Given the description of an element on the screen output the (x, y) to click on. 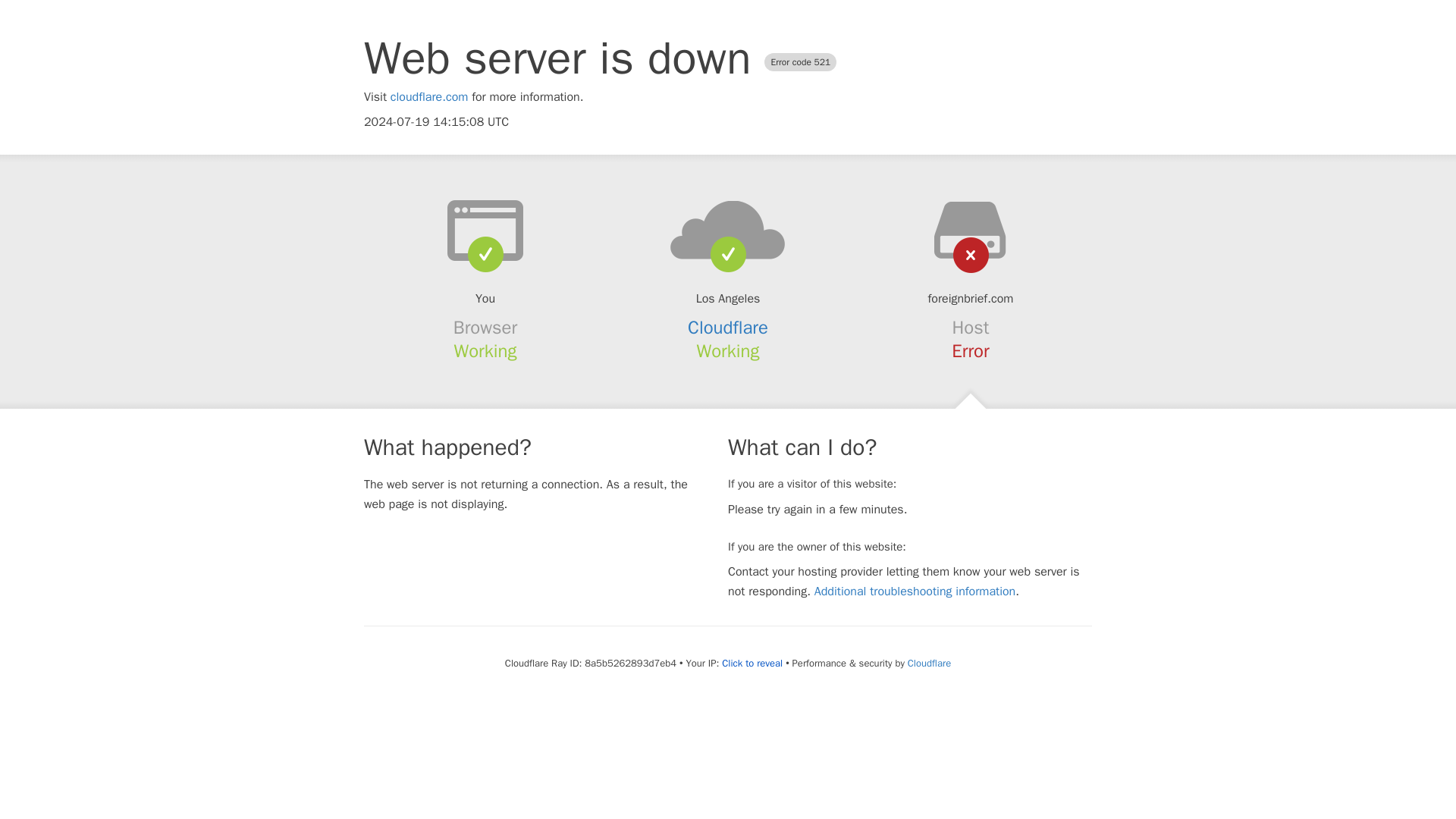
Cloudflare (727, 327)
Additional troubleshooting information (913, 590)
Cloudflare (928, 662)
Click to reveal (752, 663)
cloudflare.com (429, 96)
